Given the description of an element on the screen output the (x, y) to click on. 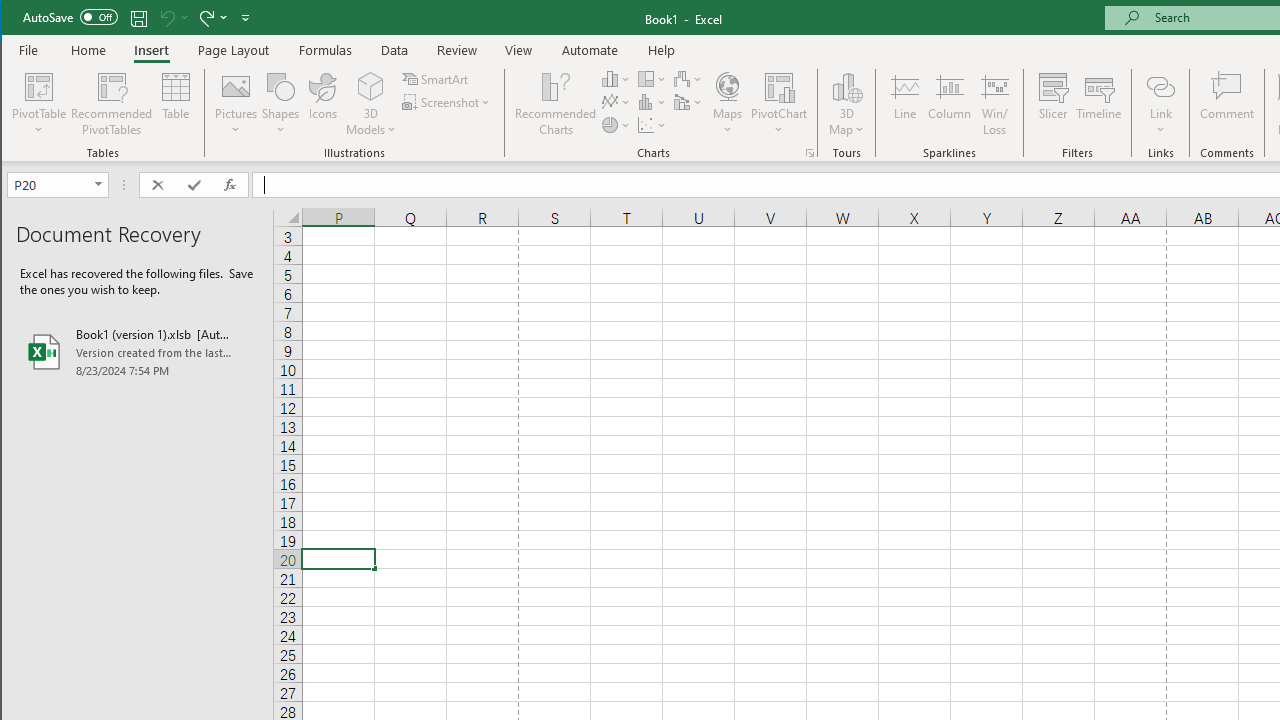
Link (1160, 86)
Save (139, 17)
Shapes (280, 104)
Comment (1227, 104)
Recommended PivotTables (111, 104)
Maps (727, 104)
PivotChart (779, 86)
Link (1160, 104)
Insert Line or Area Chart (616, 101)
Slicer... (1052, 104)
Screenshot (447, 101)
AutoSave (70, 16)
3D Map (846, 104)
Timeline (1098, 104)
